Given the description of an element on the screen output the (x, y) to click on. 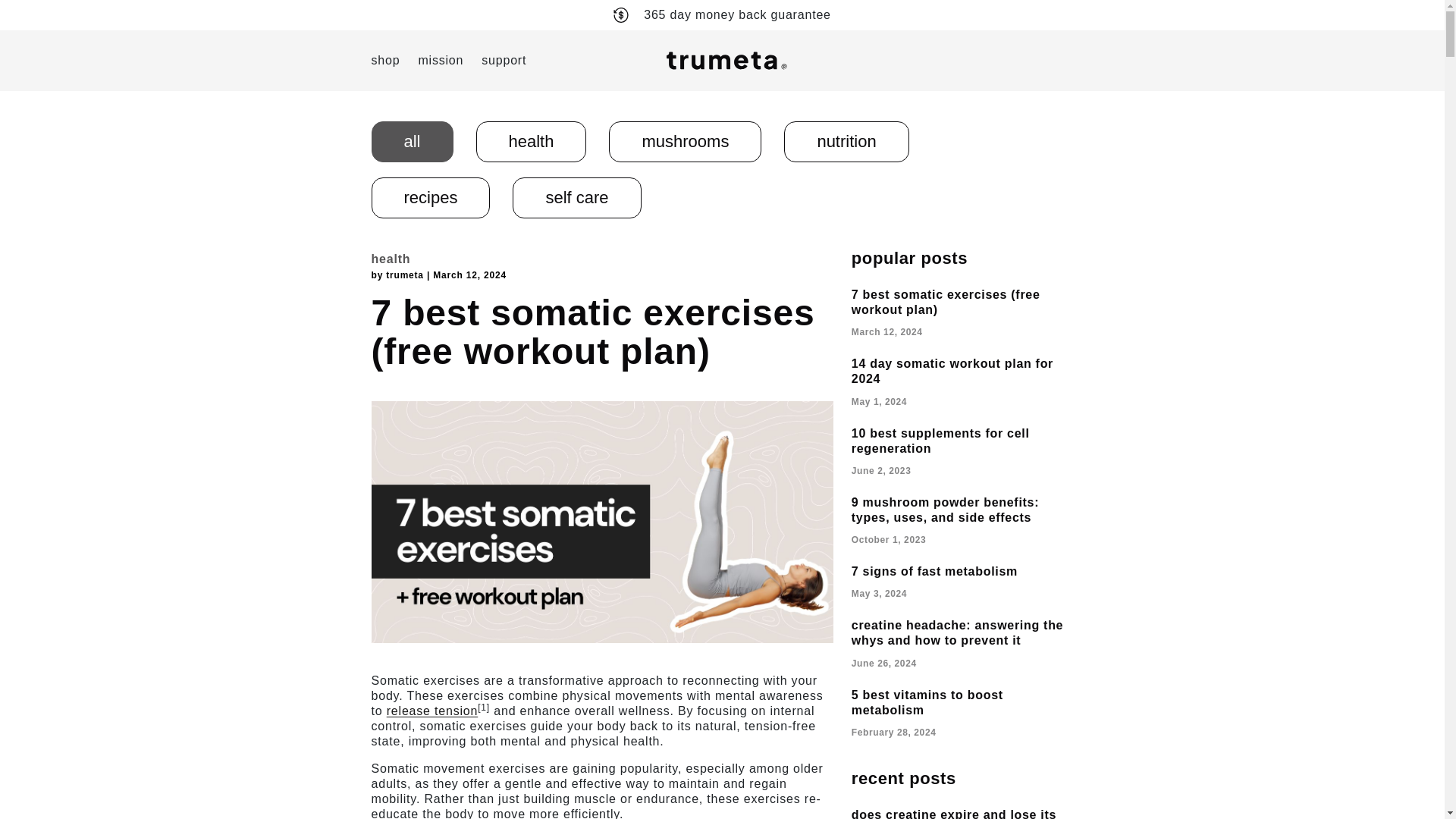
self care (576, 197)
recipes (430, 197)
all (411, 141)
release tension (433, 710)
shop (385, 60)
nutrition (846, 141)
health (390, 258)
mushrooms (684, 141)
health (531, 141)
mission (440, 60)
